Given the description of an element on the screen output the (x, y) to click on. 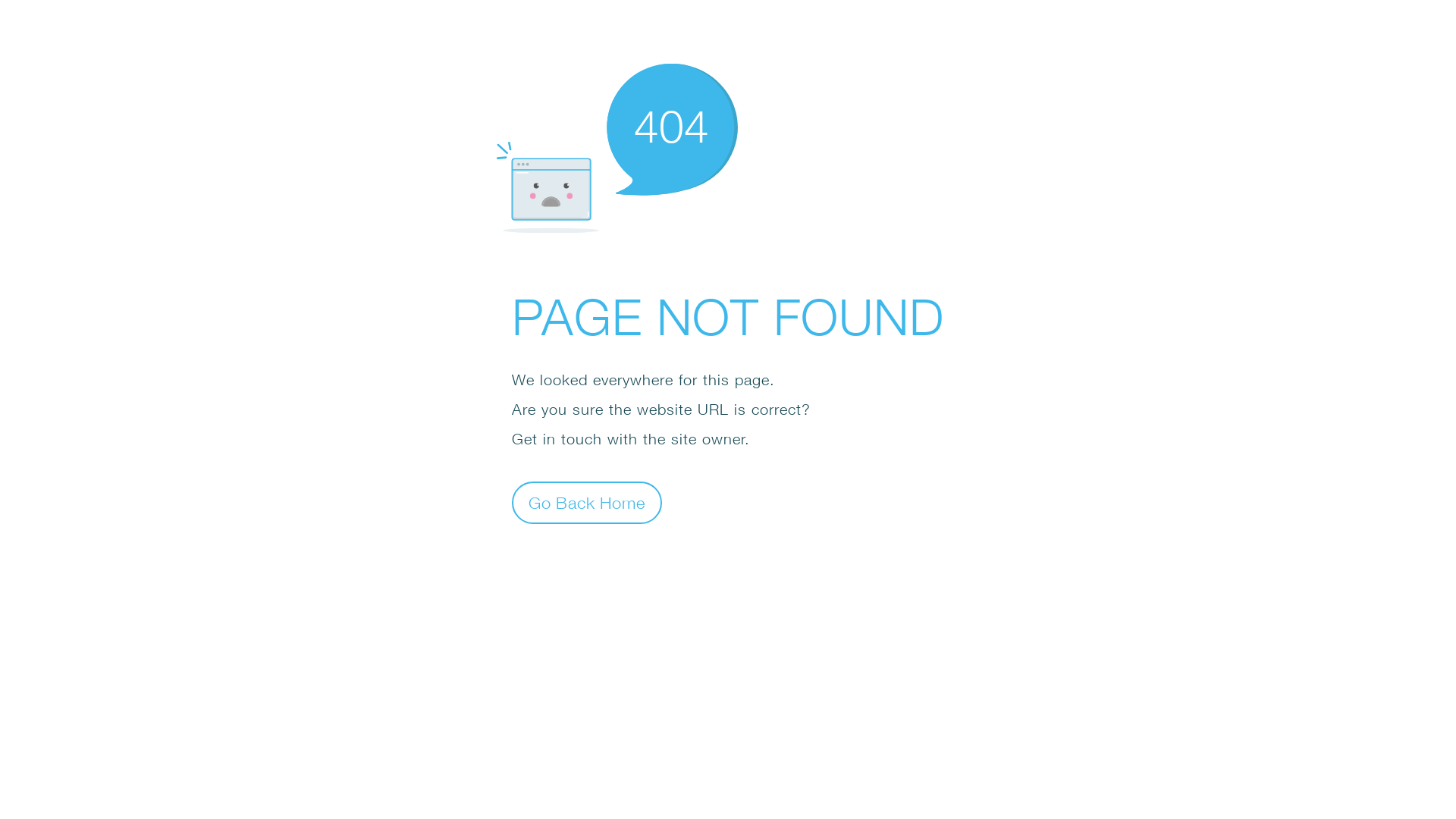
Go Back Home Element type: text (586, 502)
